Given the description of an element on the screen output the (x, y) to click on. 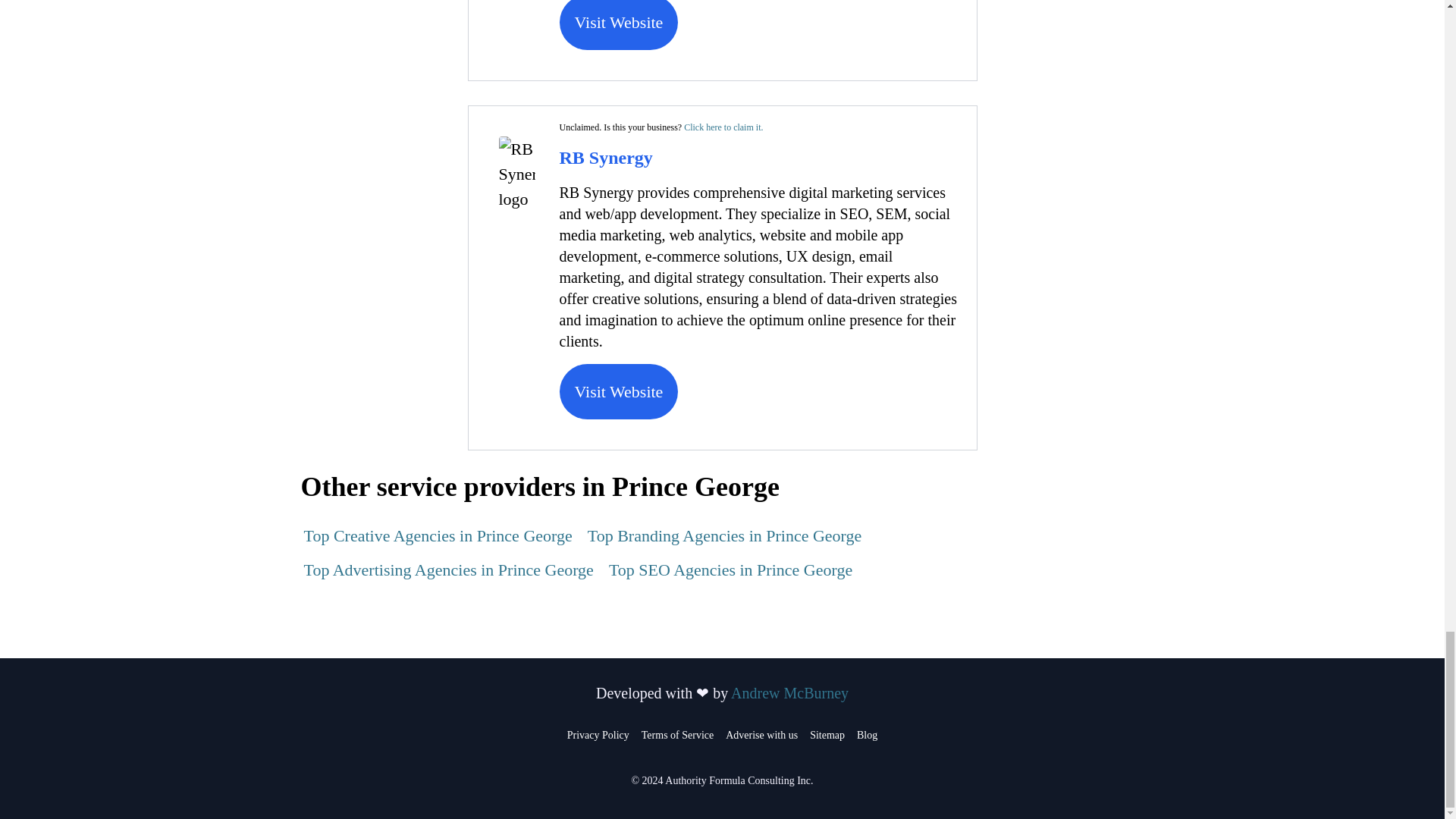
Adverise with us (761, 735)
Privacy Policy (597, 735)
Top Branding Agencies in Prince George (724, 535)
Top SEO Agencies in Prince George (729, 569)
Visit Website (618, 391)
Top Creative Agencies in Prince George (437, 535)
Sitemap (826, 735)
Terms of Service (677, 735)
Click here to claim it. (723, 127)
Top Advertising Agencies in Prince George (447, 569)
Visit Website (618, 24)
Andrew McBurney (789, 692)
